Given the description of an element on the screen output the (x, y) to click on. 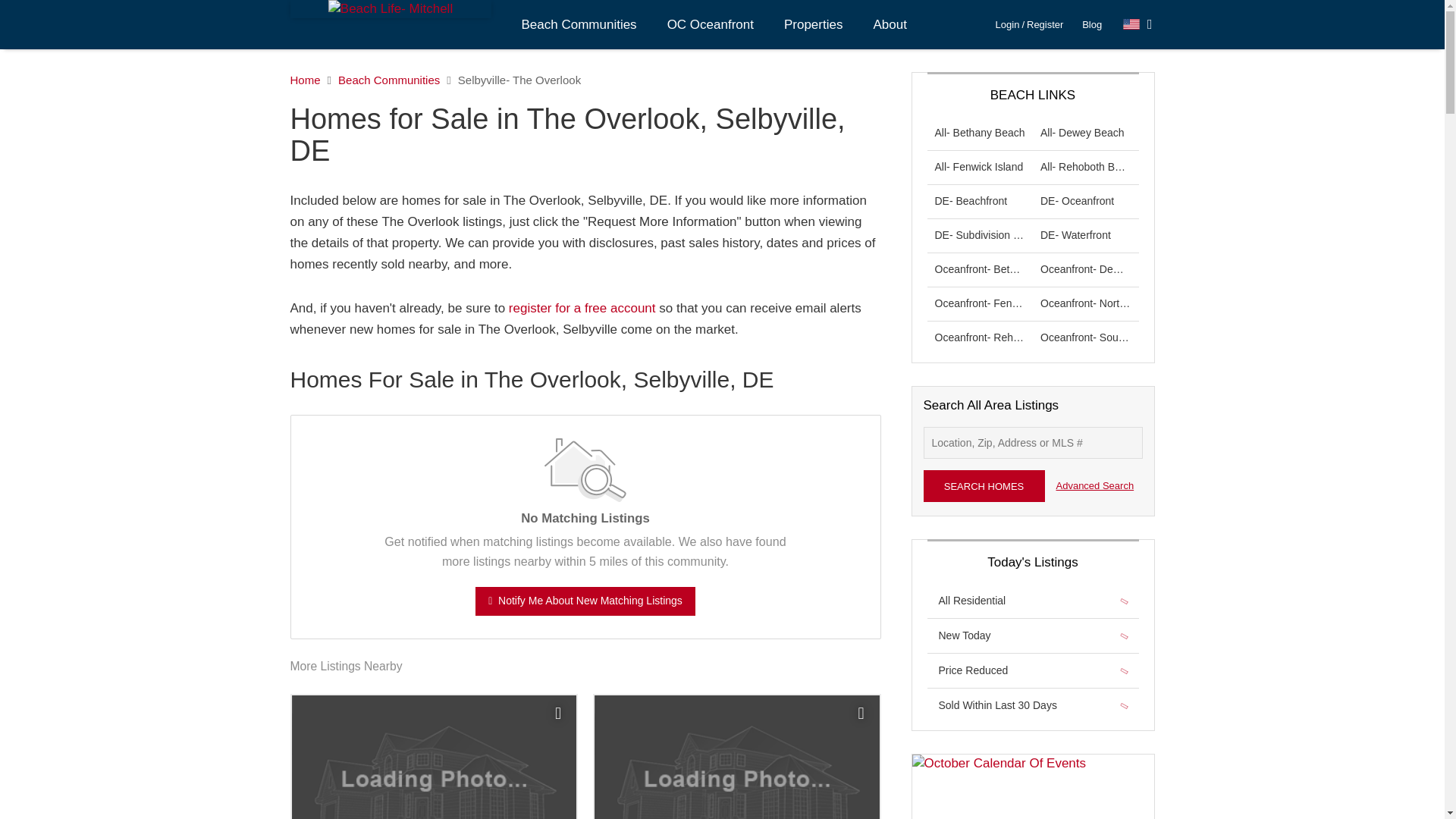
About (889, 24)
Select Language (1137, 24)
OC Oceanfront (710, 24)
Blog (1091, 24)
Beach Communities (579, 24)
Email Listing Alerts (582, 308)
Register (1044, 24)
Properties (812, 24)
